Given the description of an element on the screen output the (x, y) to click on. 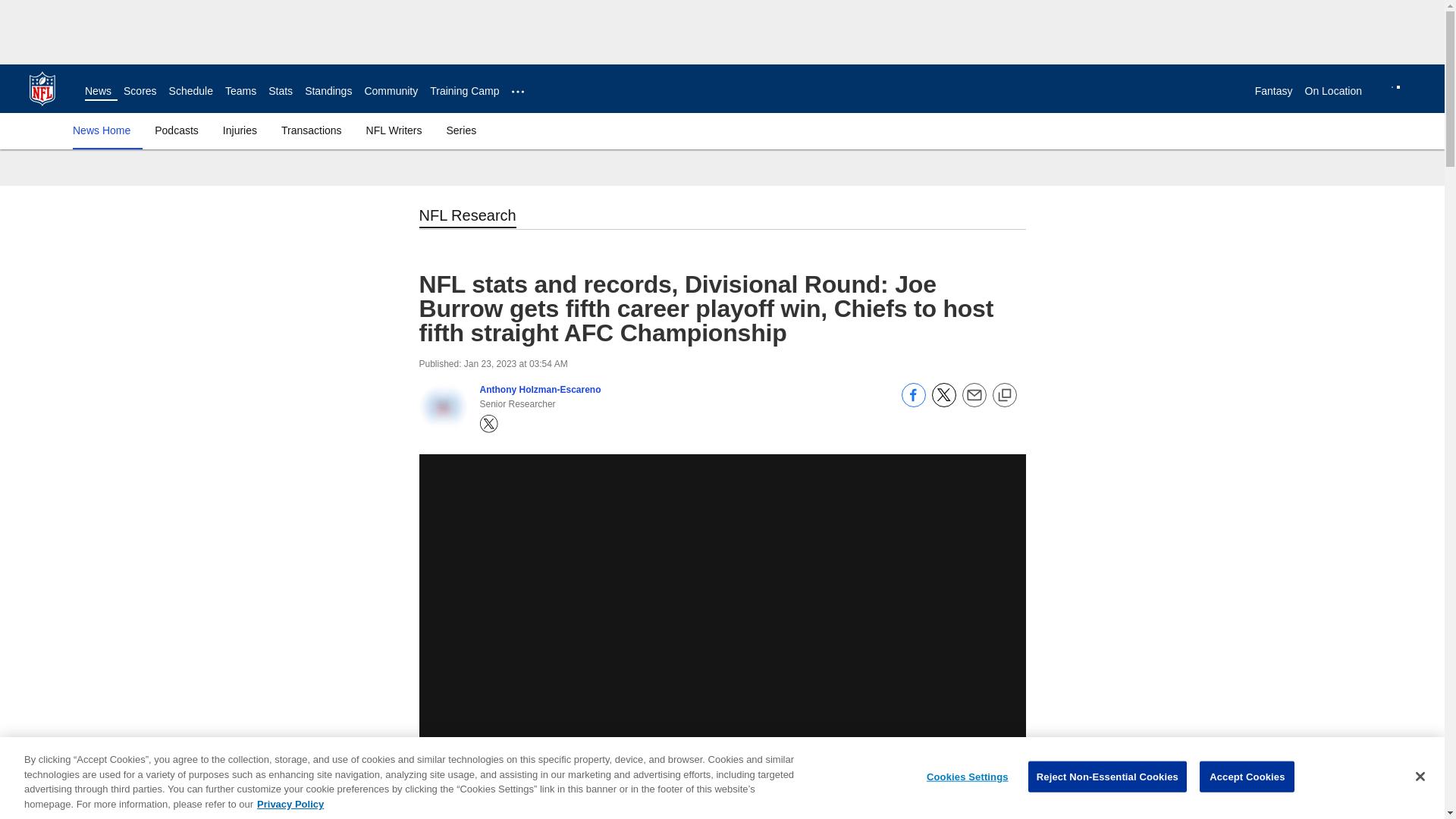
Stats (279, 91)
Link to NFL homepage (42, 88)
News (98, 91)
Scores (140, 91)
Teams (240, 91)
Scores (140, 91)
Teams (240, 91)
News (98, 91)
Schedule (190, 91)
Schedule (190, 91)
